Given the description of an element on the screen output the (x, y) to click on. 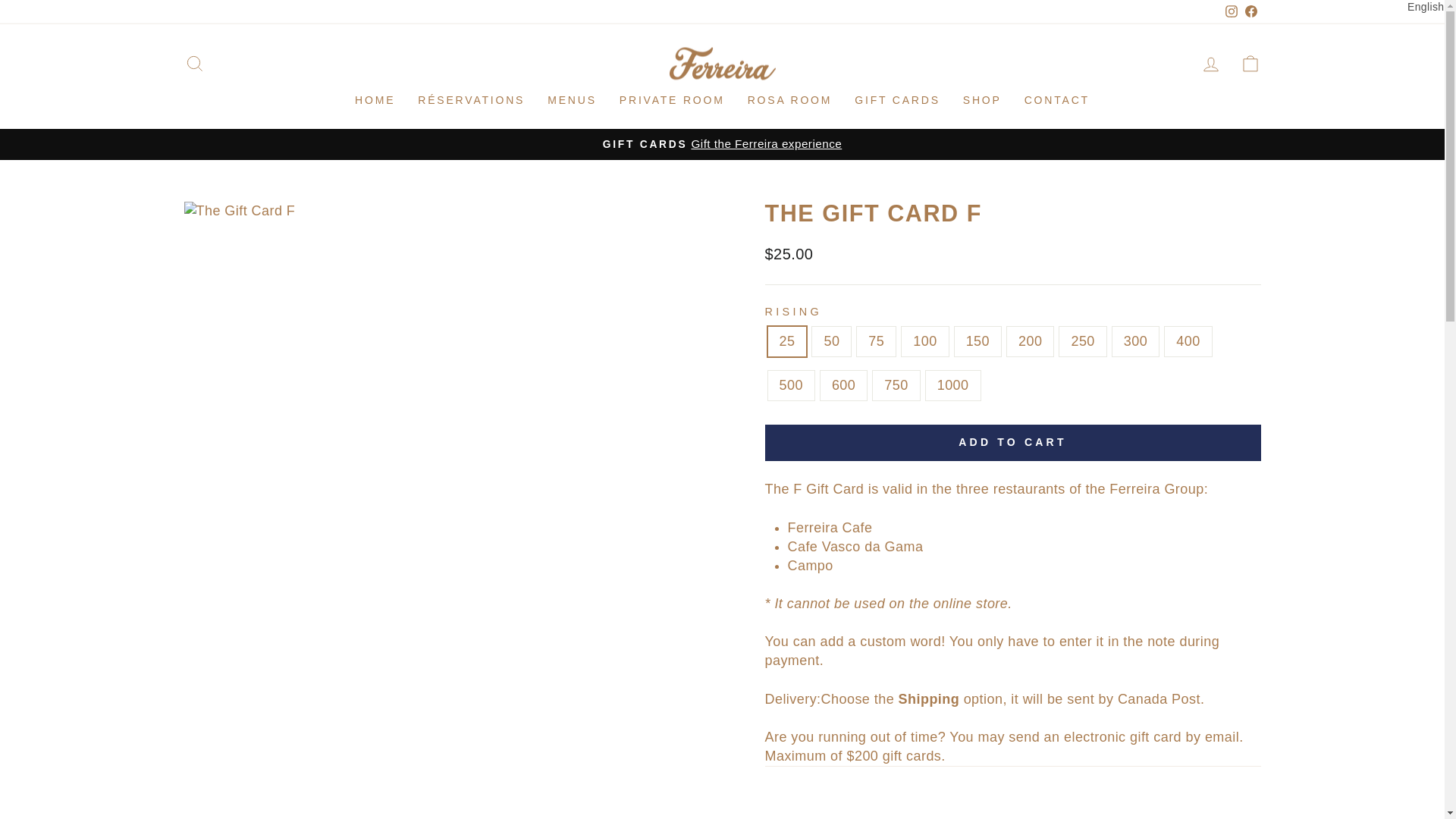
ADD TO CART (1012, 443)
Facebook (1250, 11)
Instagram (1230, 11)
SEARCH (194, 62)
GIFT CARDS (897, 100)
GIFT CARDSGift the Ferreira experience (722, 143)
